Given the description of an element on the screen output the (x, y) to click on. 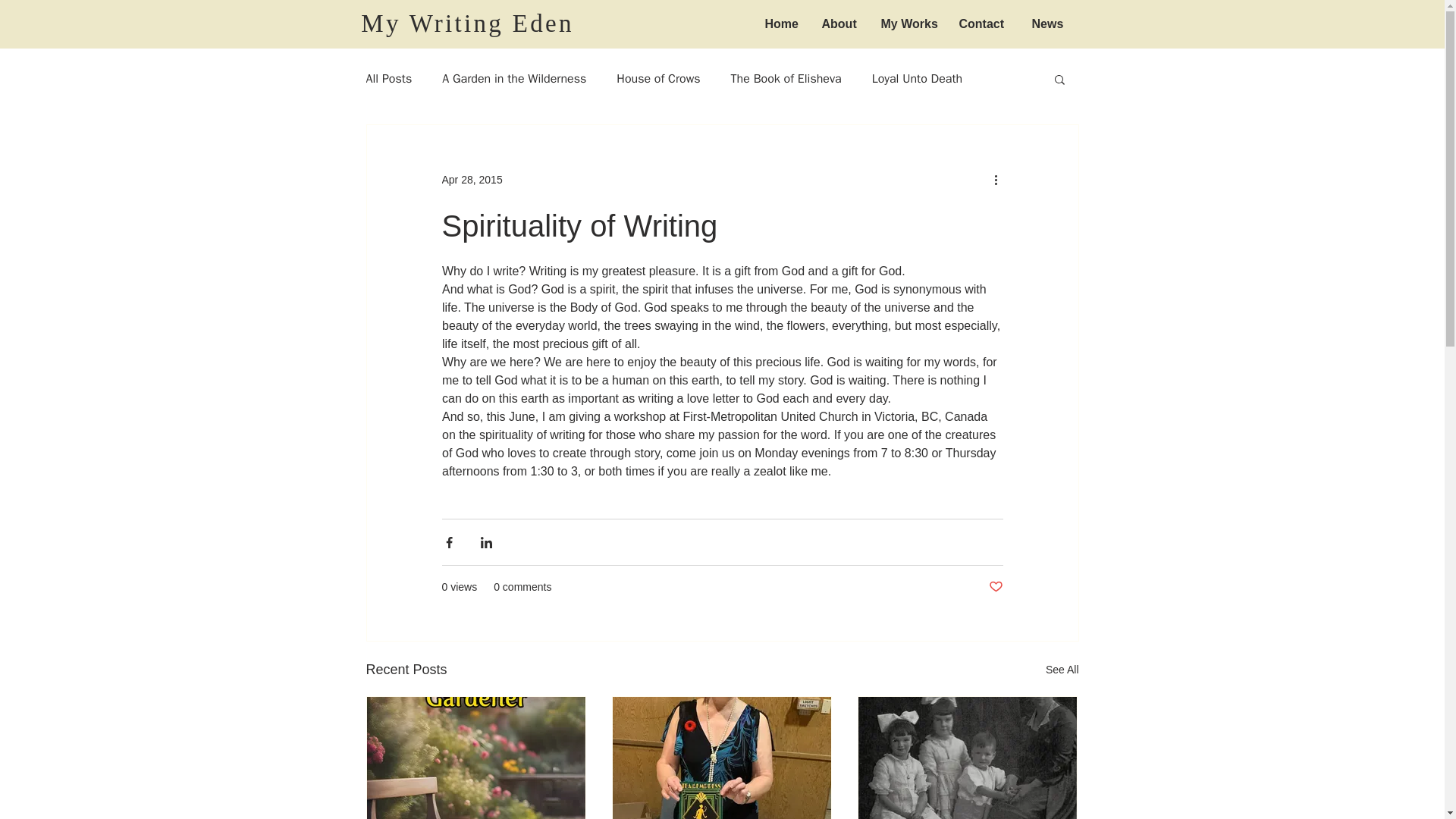
See All (1061, 669)
Loyal Unto Death (917, 78)
House of Crows (657, 78)
Home (782, 24)
News (1047, 24)
The Book of Elisheva (785, 78)
Apr 28, 2015 (471, 179)
About (839, 24)
All Posts (388, 78)
Contact (983, 24)
A Garden in the Wilderness (514, 78)
Post not marked as liked (995, 587)
